Given the description of an element on the screen output the (x, y) to click on. 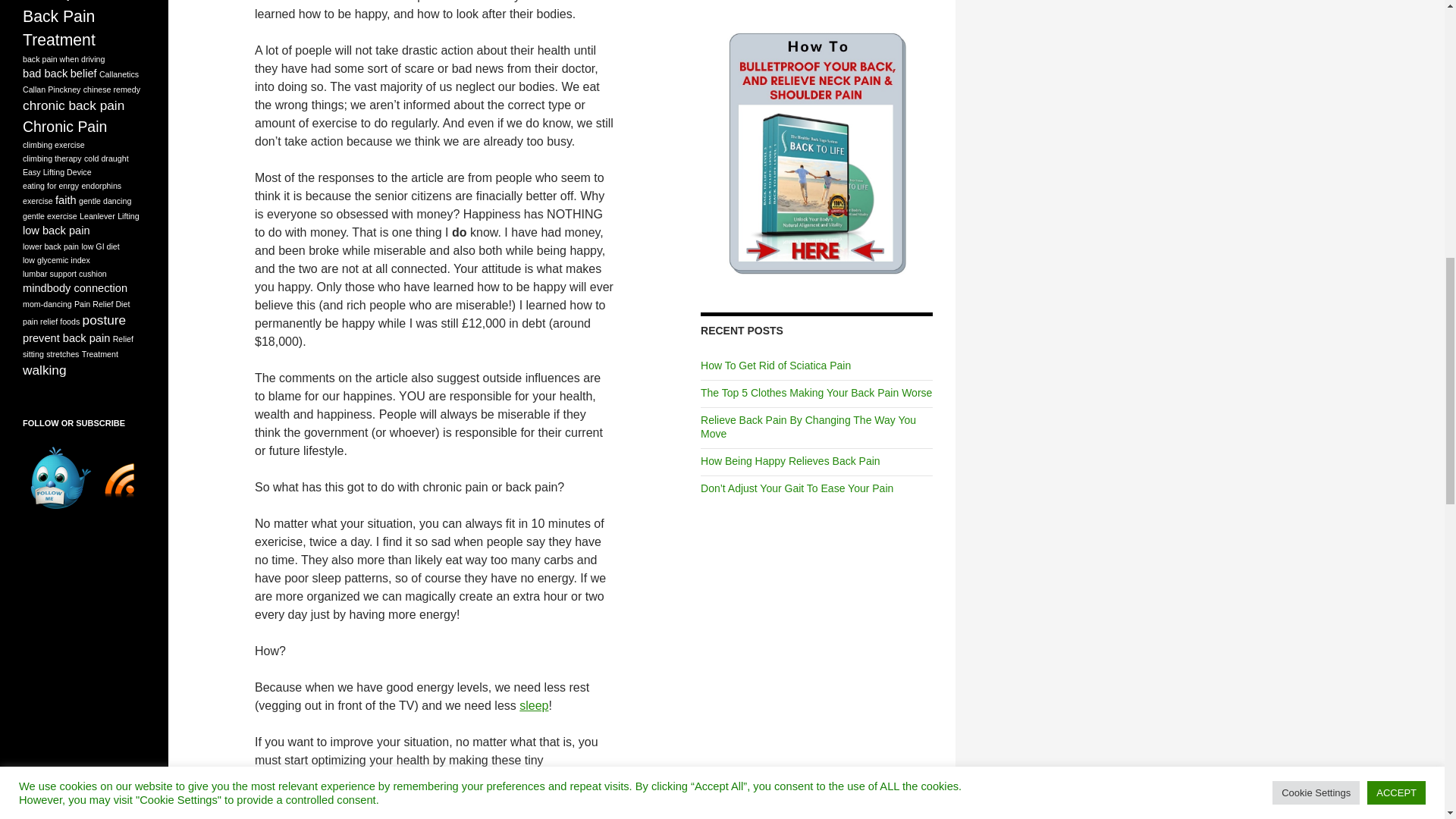
sleep (533, 705)
